Given the description of an element on the screen output the (x, y) to click on. 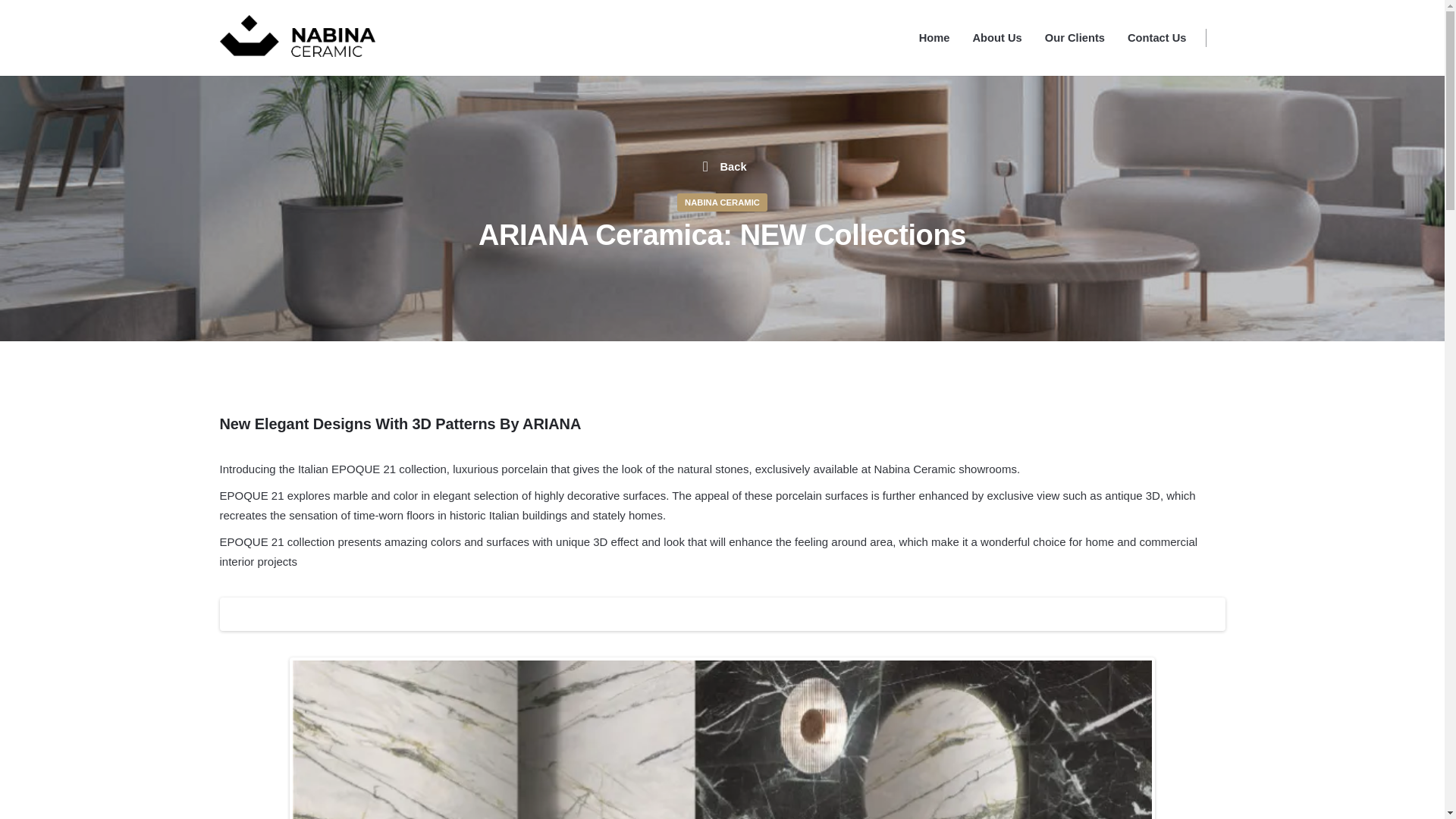
About Us (996, 38)
NABINA CERAMIC (722, 202)
Our Clients (1074, 38)
Contact Us (1157, 38)
Back (721, 166)
